Given the description of an element on the screen output the (x, y) to click on. 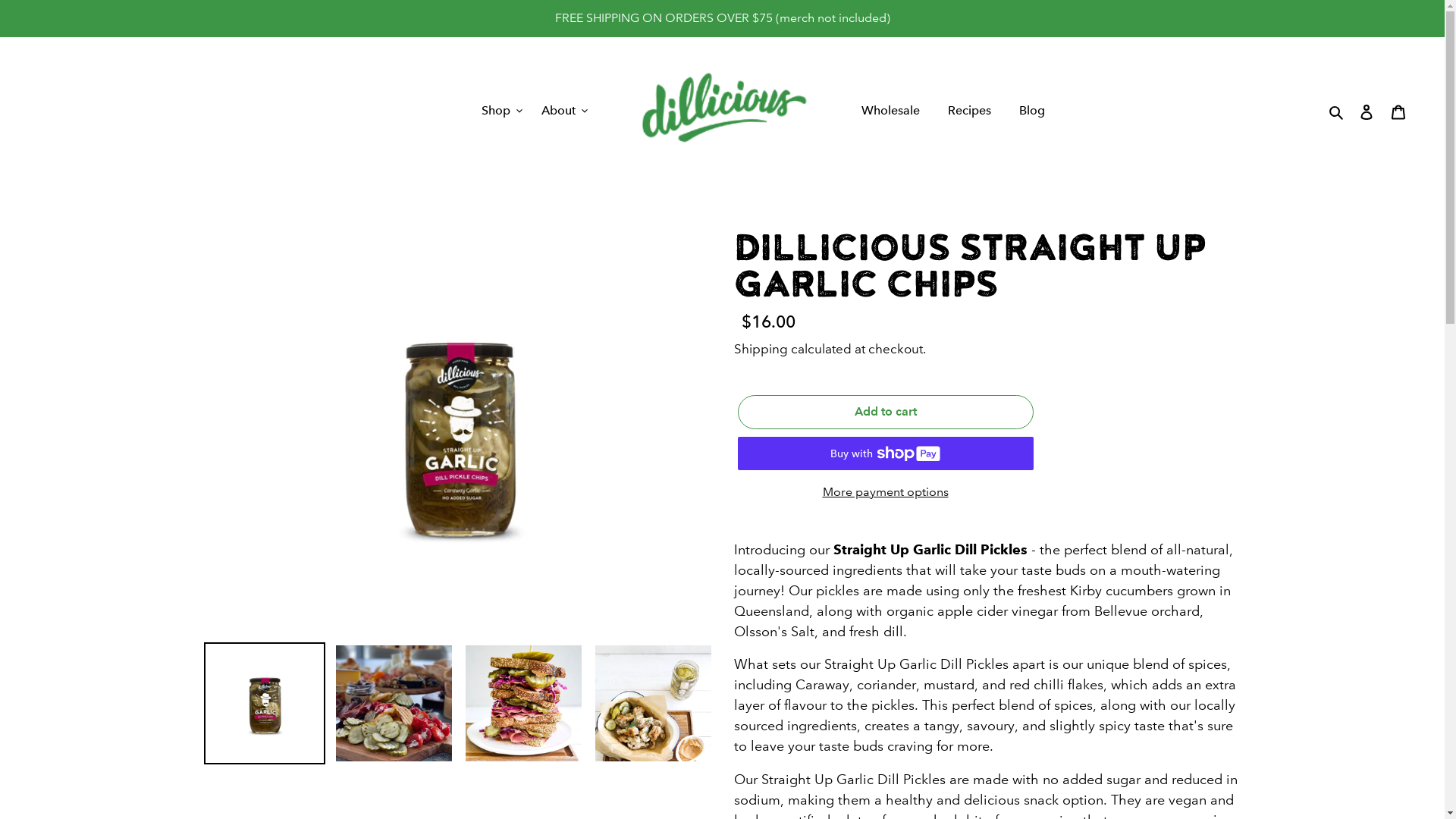
Shop Element type: text (501, 111)
Shipping Element type: text (760, 349)
Log in Element type: text (1366, 110)
Search Element type: text (1337, 111)
More payment options Element type: text (884, 492)
Cart Element type: text (1398, 110)
About Element type: text (564, 111)
Recipes Element type: text (969, 111)
Add to cart Element type: text (884, 411)
Blog Element type: text (1032, 111)
Wholesale Element type: text (890, 111)
FREE SHIPPING ON ORDERS OVER $75 (merch not included) Element type: text (722, 17)
